Given the description of an element on the screen output the (x, y) to click on. 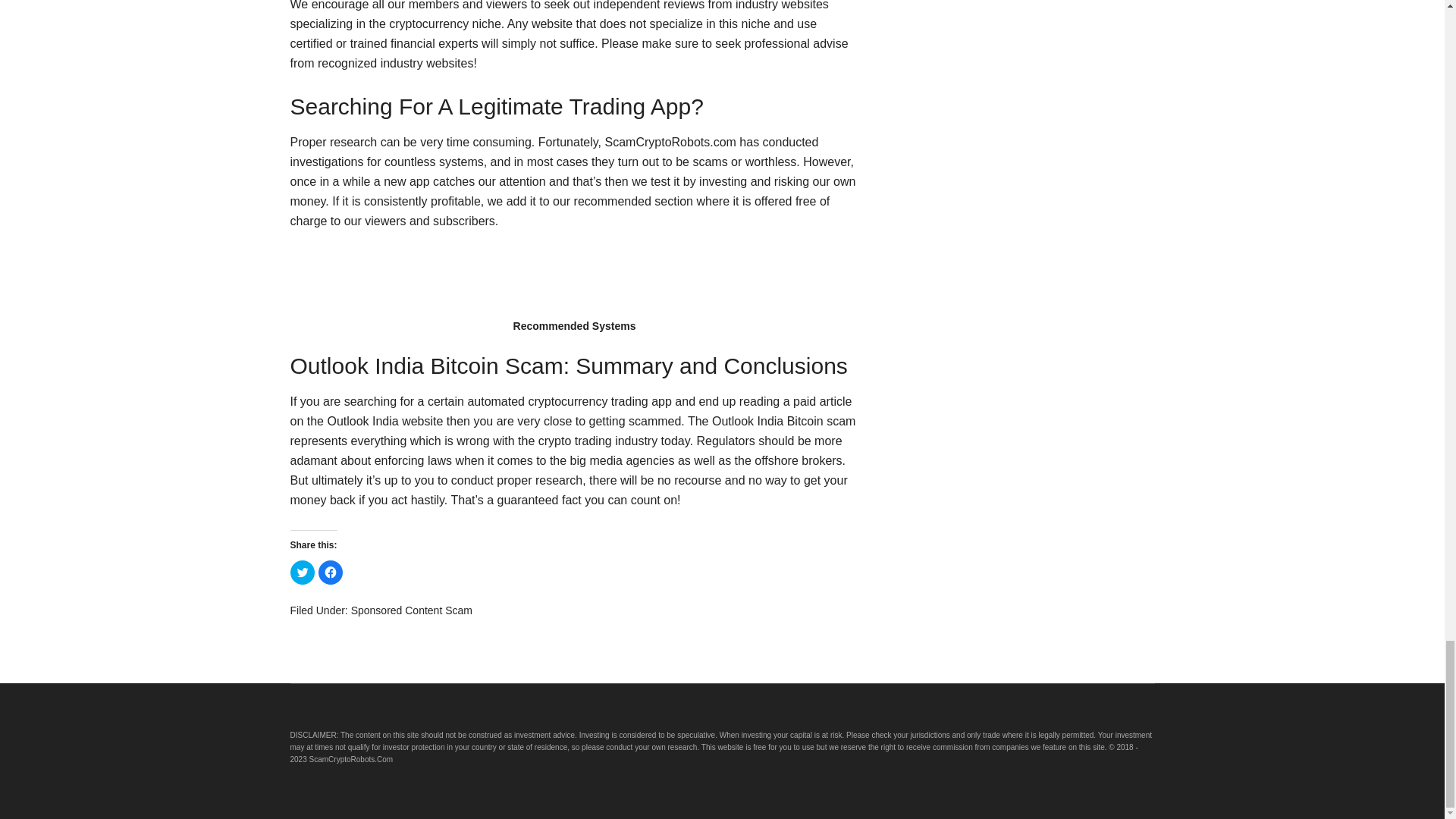
Sponsored Content Scam (410, 610)
Click to share on Facebook (330, 572)
Recommended Systems (574, 281)
Click to share on Twitter (301, 572)
